Given the description of an element on the screen output the (x, y) to click on. 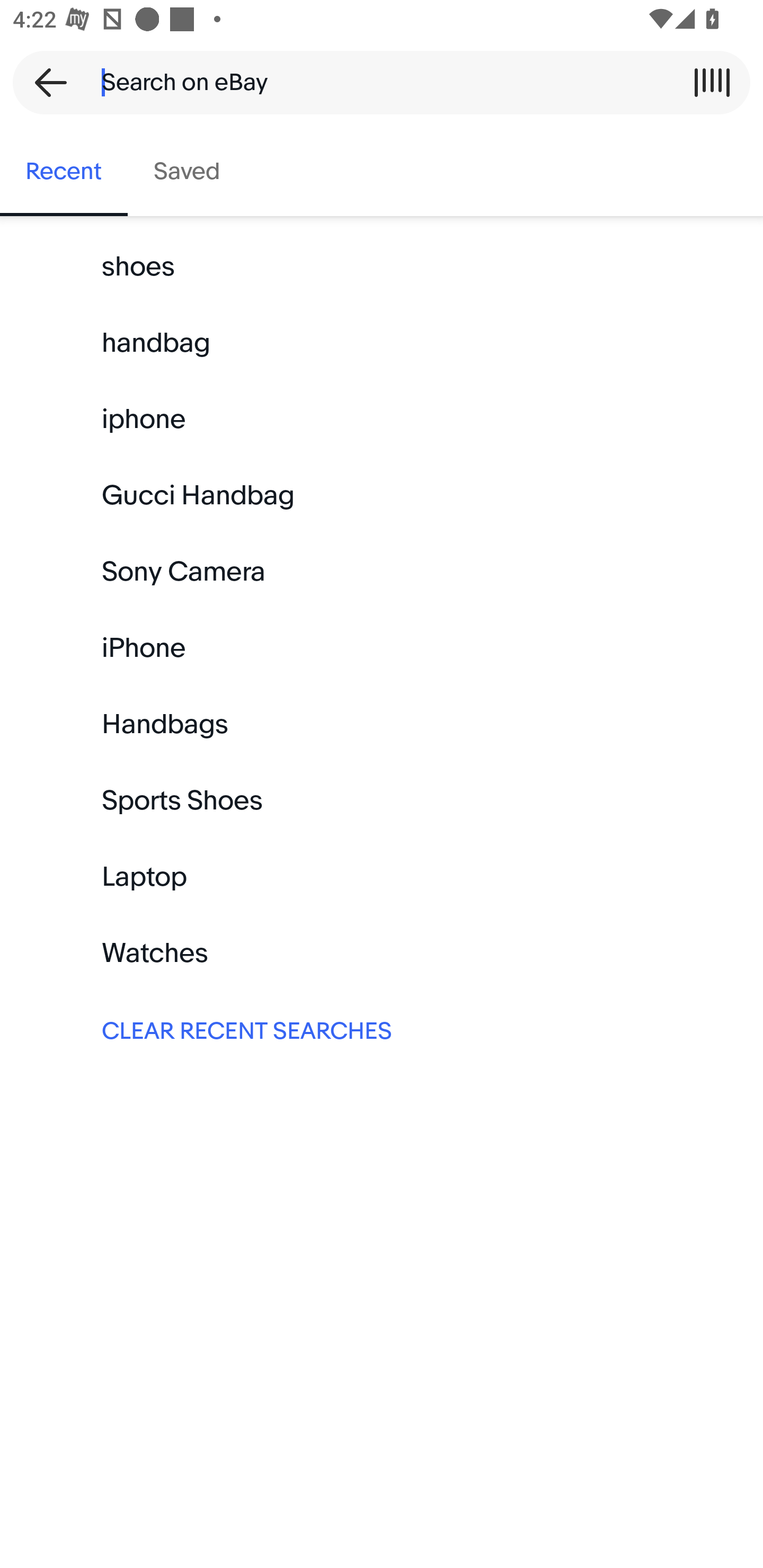
Back (44, 82)
Scan a barcode (711, 82)
Search on eBay (375, 82)
Saved, tab 2 of 2 Saved (186, 171)
shoes Keyword search shoes: (381, 266)
handbag Keyword search handbag: (381, 343)
iphone Keyword search iphone: (381, 419)
Gucci Handbag Keyword search Gucci Handbag: (381, 495)
Sony Camera Keyword search Sony Camera: (381, 571)
iPhone Keyword search iPhone: (381, 647)
Handbags Keyword search Handbags: (381, 724)
Sports Shoes Keyword search Sports Shoes: (381, 800)
Laptop Keyword search Laptop: (381, 876)
Watches Keyword search Watches: (381, 952)
CLEAR RECENT SEARCHES (381, 1028)
